Given the description of an element on the screen output the (x, y) to click on. 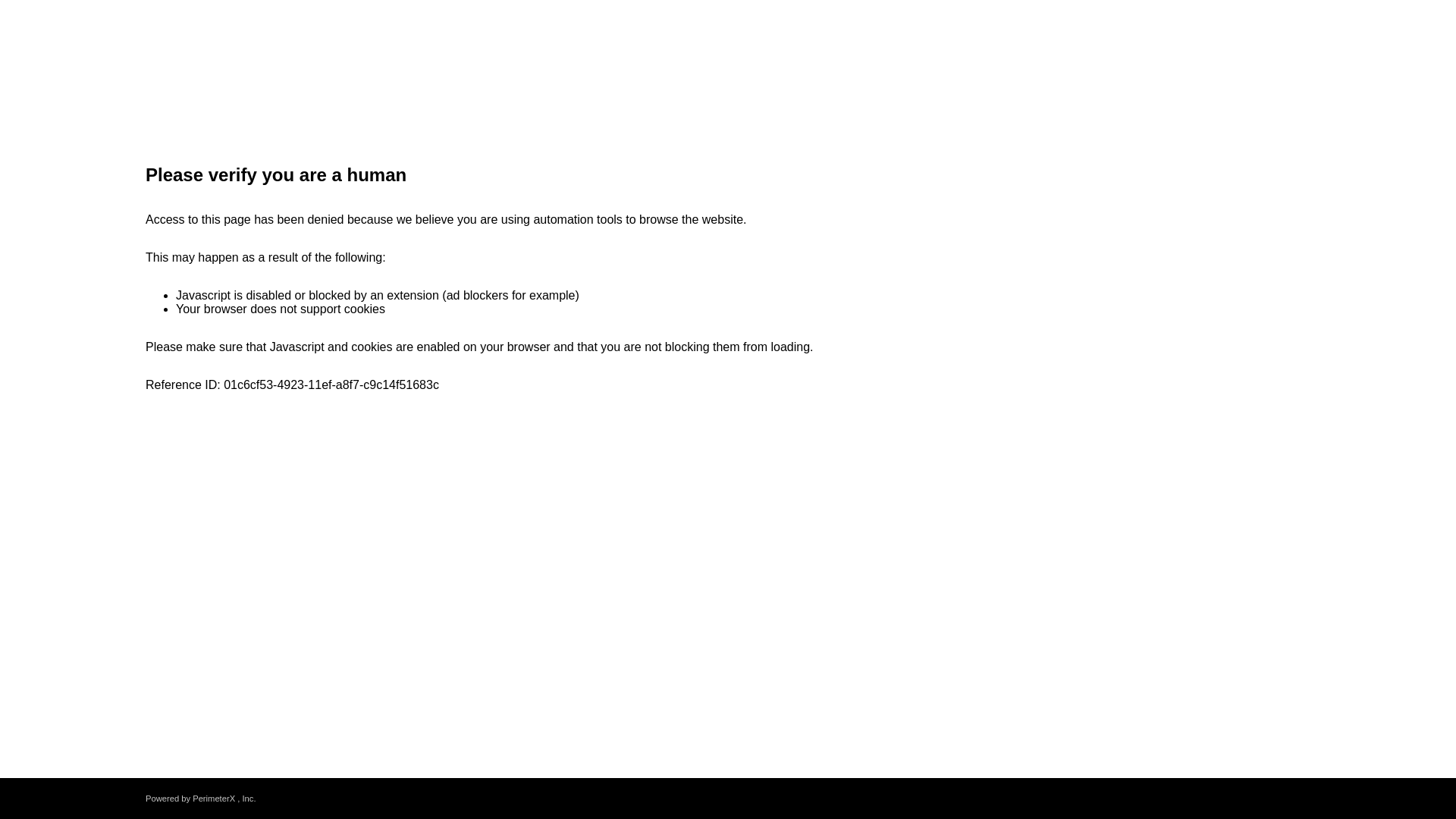
PerimeterX (213, 798)
